Given the description of an element on the screen output the (x, y) to click on. 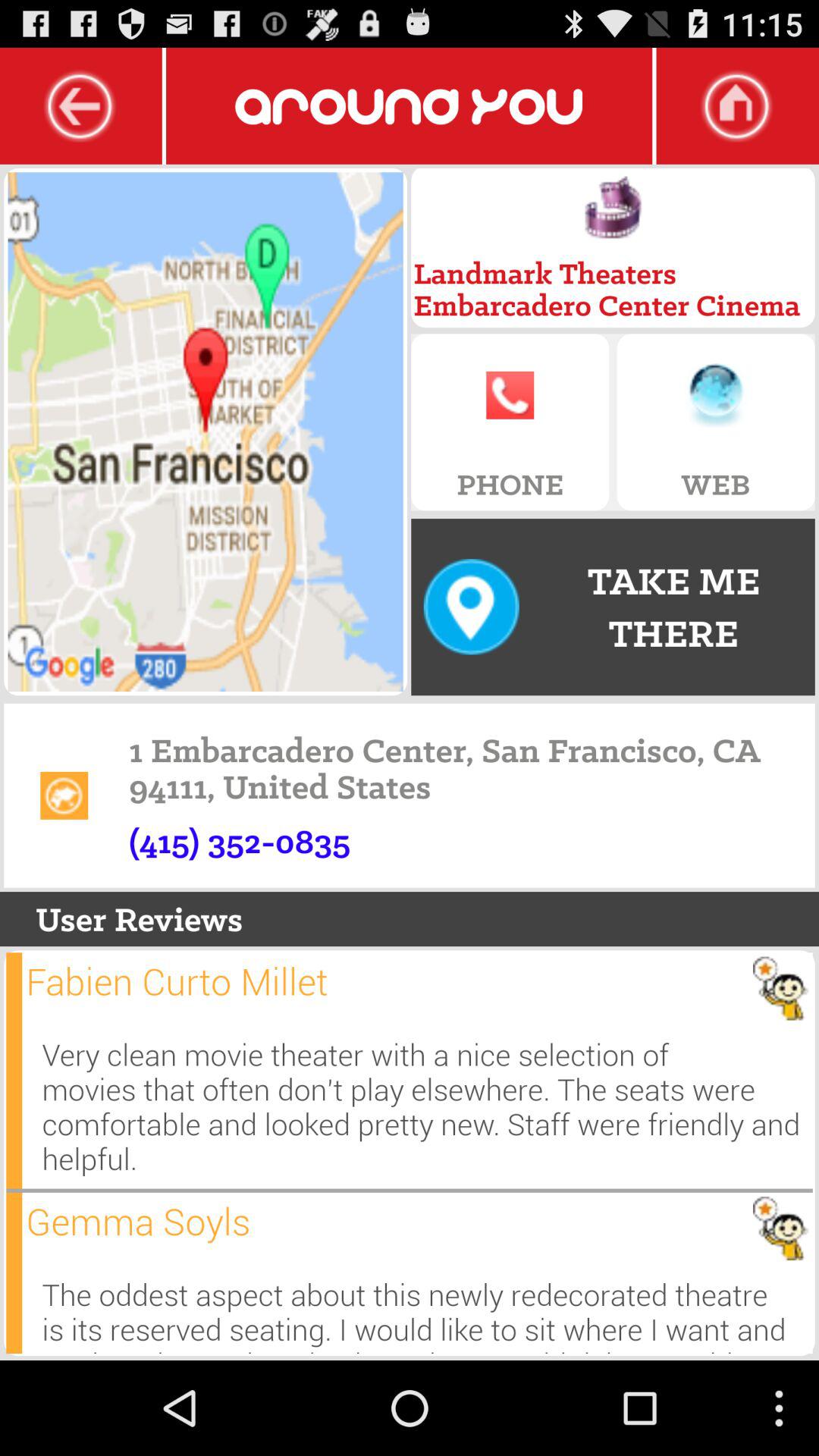
flip to the (415) 352-0835 (239, 840)
